Given the description of an element on the screen output the (x, y) to click on. 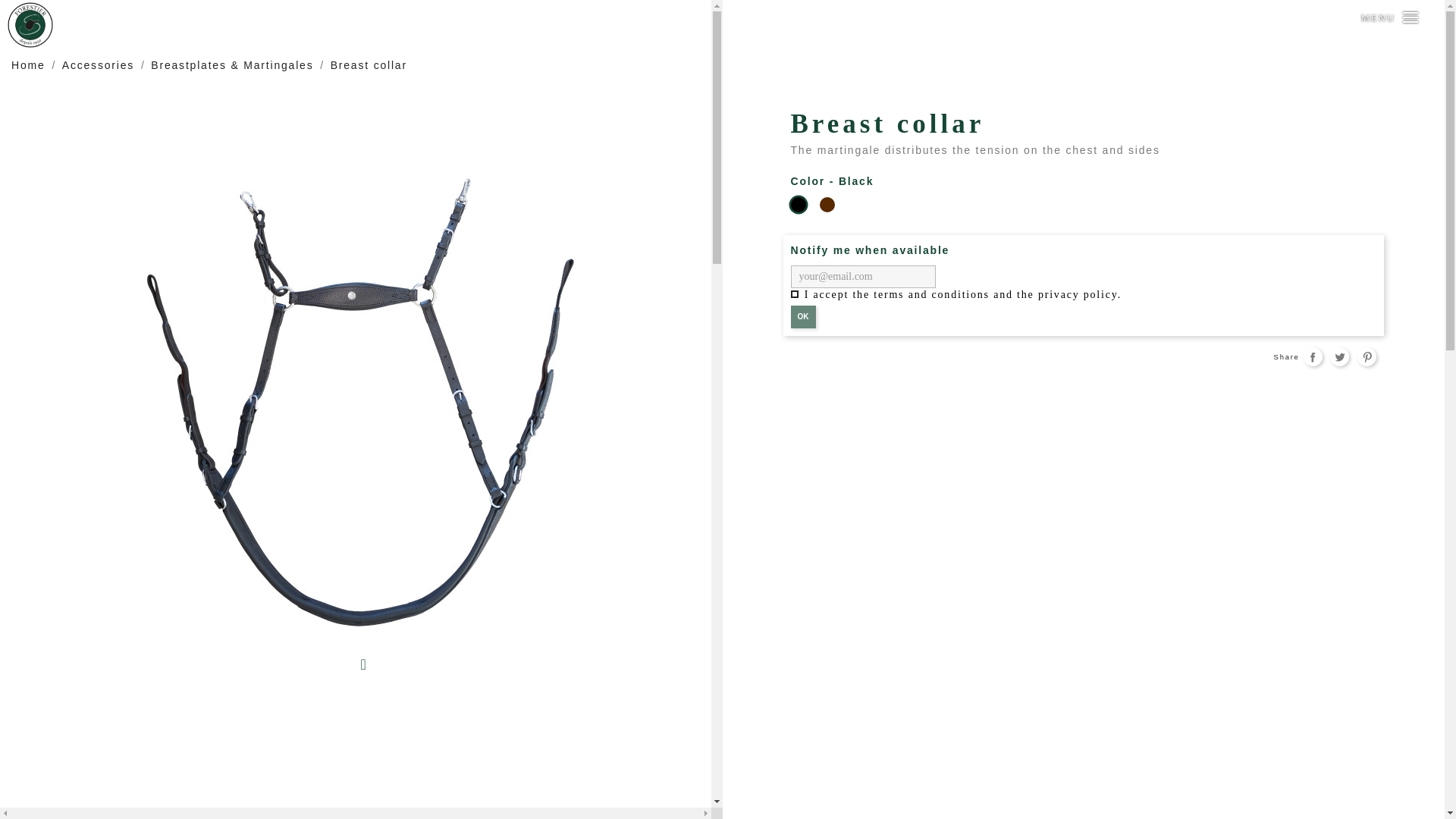
Home (30, 64)
Tweet (1339, 356)
Pinterest (1365, 356)
Tweet (1339, 356)
Share (1312, 356)
Share (1312, 356)
Pinterest (1365, 356)
Breast collar (368, 64)
Accessories (100, 64)
OK (802, 317)
